Given the description of an element on the screen output the (x, y) to click on. 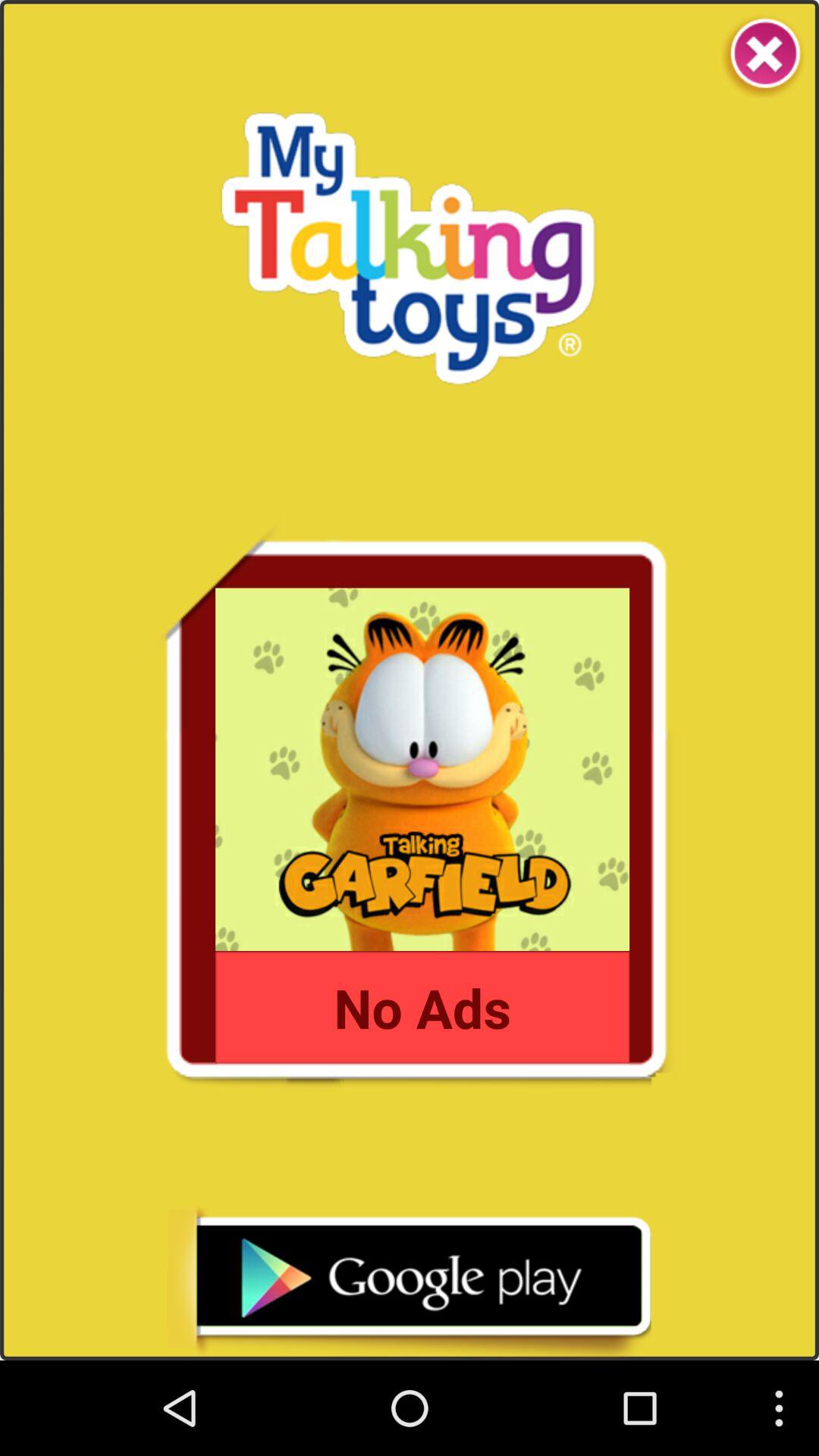
go to google play (409, 1283)
